Given the description of an element on the screen output the (x, y) to click on. 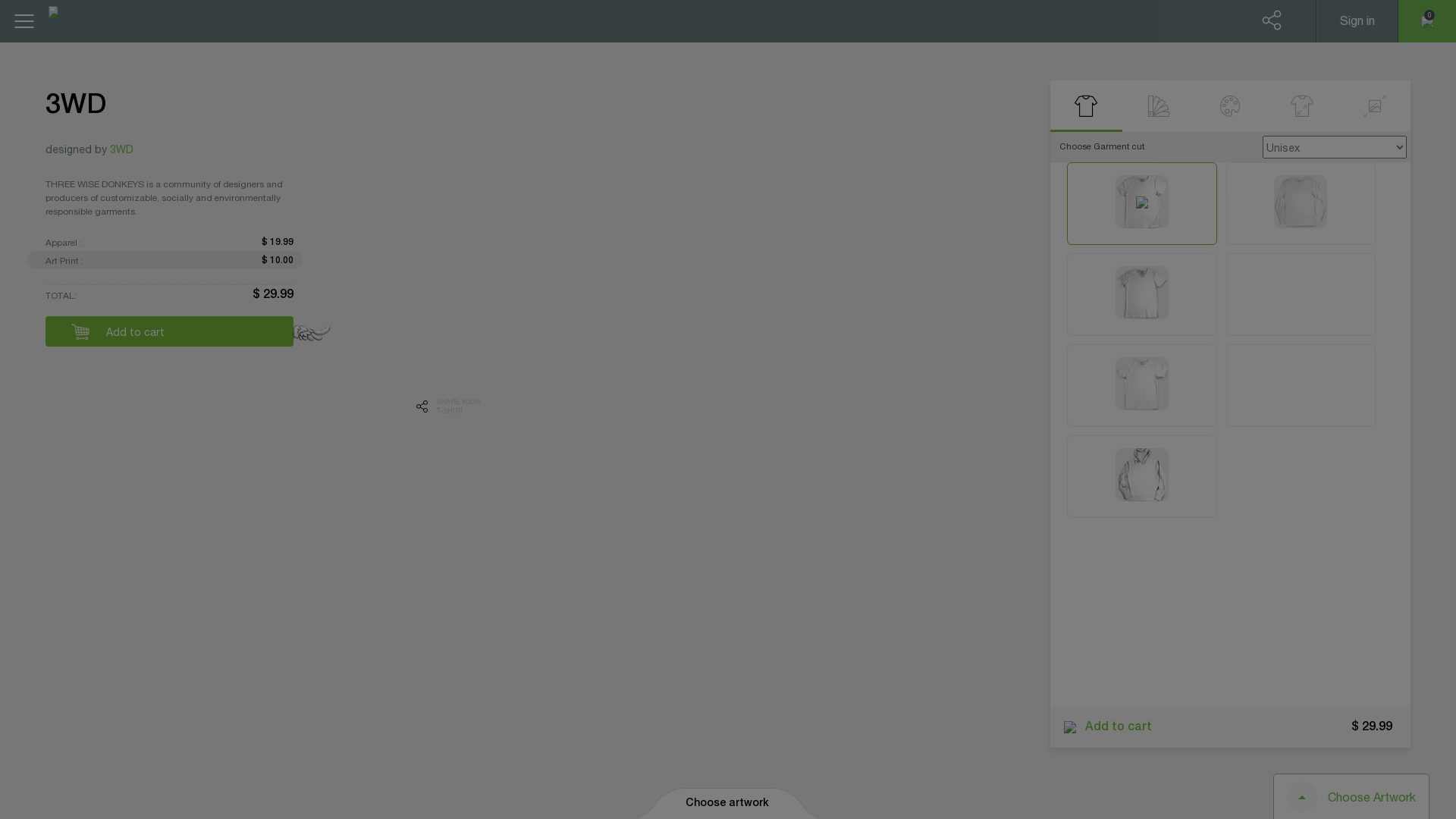
Garment Cut Element type: hover (1086, 105)
Garment Color Element type: hover (1230, 105)
Artwork Variation Element type: hover (1158, 105)
Crew Neck Short Sleeve Unisex Element type: hover (1141, 201)
I-Shirt Unisex Element type: hover (1300, 383)
Add to cart Element type: text (169, 331)
0 Element type: text (1141, 294)
V-Neck Short Sleeve Unisex Element type: hover (1141, 292)
0 Element type: text (1300, 203)
V-Neck Long Sleeve Unisex Element type: hover (1300, 292)
Add to cart Element type: text (1100, 727)
0 Element type: text (1427, 20)
Artwork Size Element type: hover (1374, 105)
0 Element type: text (1141, 385)
0 Element type: text (1300, 385)
0 Element type: text (1260, 21)
0 Element type: text (1300, 294)
Click to login and rate this artwork. Element type: hover (90, 132)
0 Element type: text (1141, 203)
designed by 3WD Element type: text (89, 148)
Raglan Short Sleeve Unisex Element type: hover (1141, 383)
0 Element type: text (1141, 476)
Garment Size Element type: hover (1302, 105)
Hoodie Unisex Element type: hover (1141, 474)
Sign in Element type: text (1356, 20)
Crew Neck Long Sleeve Unisex Element type: hover (1300, 201)
